Given the description of an element on the screen output the (x, y) to click on. 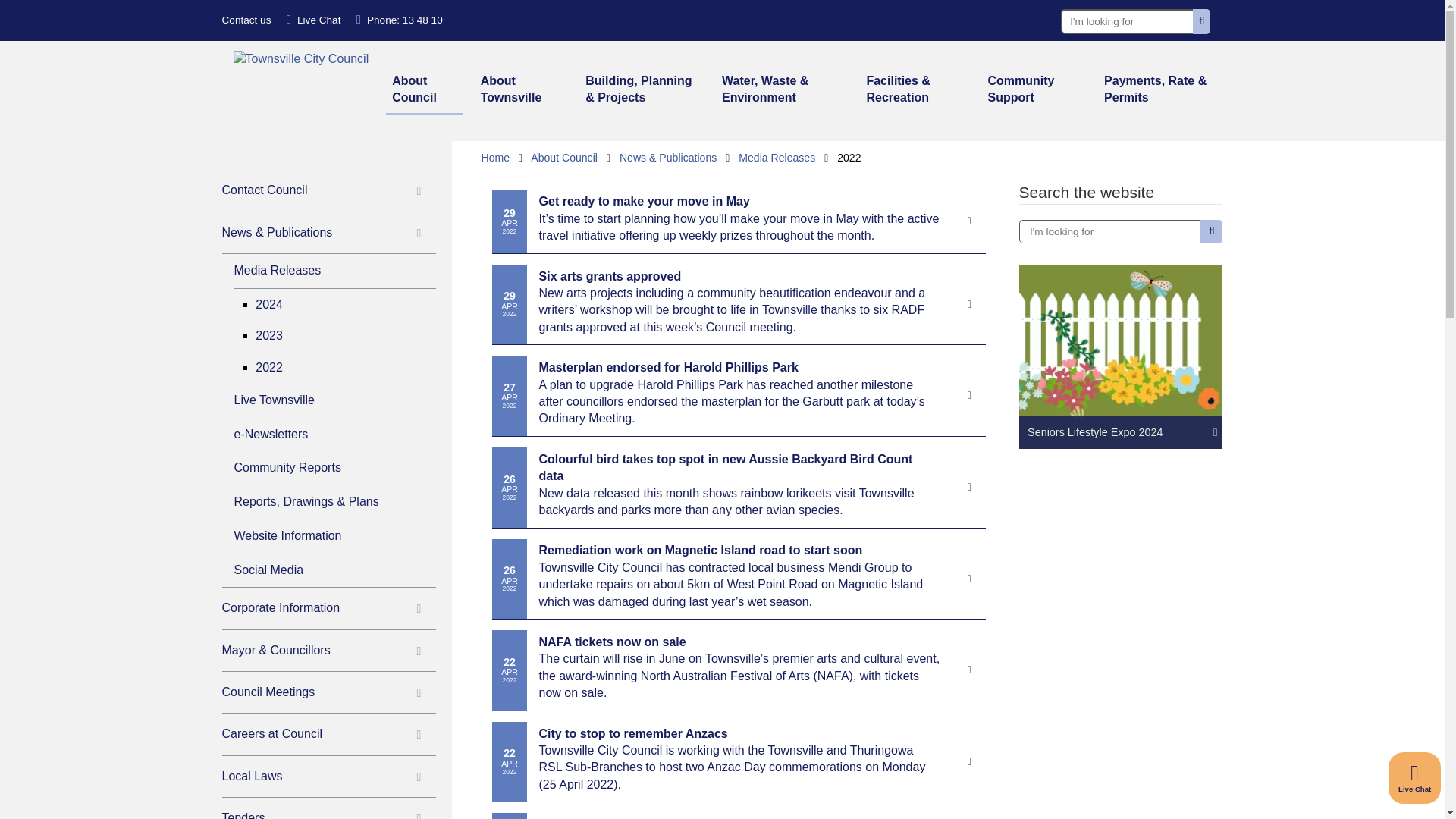
Chat with a Townsville City Council representative. (313, 20)
Phone: 13 48 10 (399, 20)
Live Chat (313, 20)
About Council (424, 90)
Chat with a Townsville City Council representative. (1415, 777)
Contact us (245, 20)
Live Chat (1415, 777)
